Given the description of an element on the screen output the (x, y) to click on. 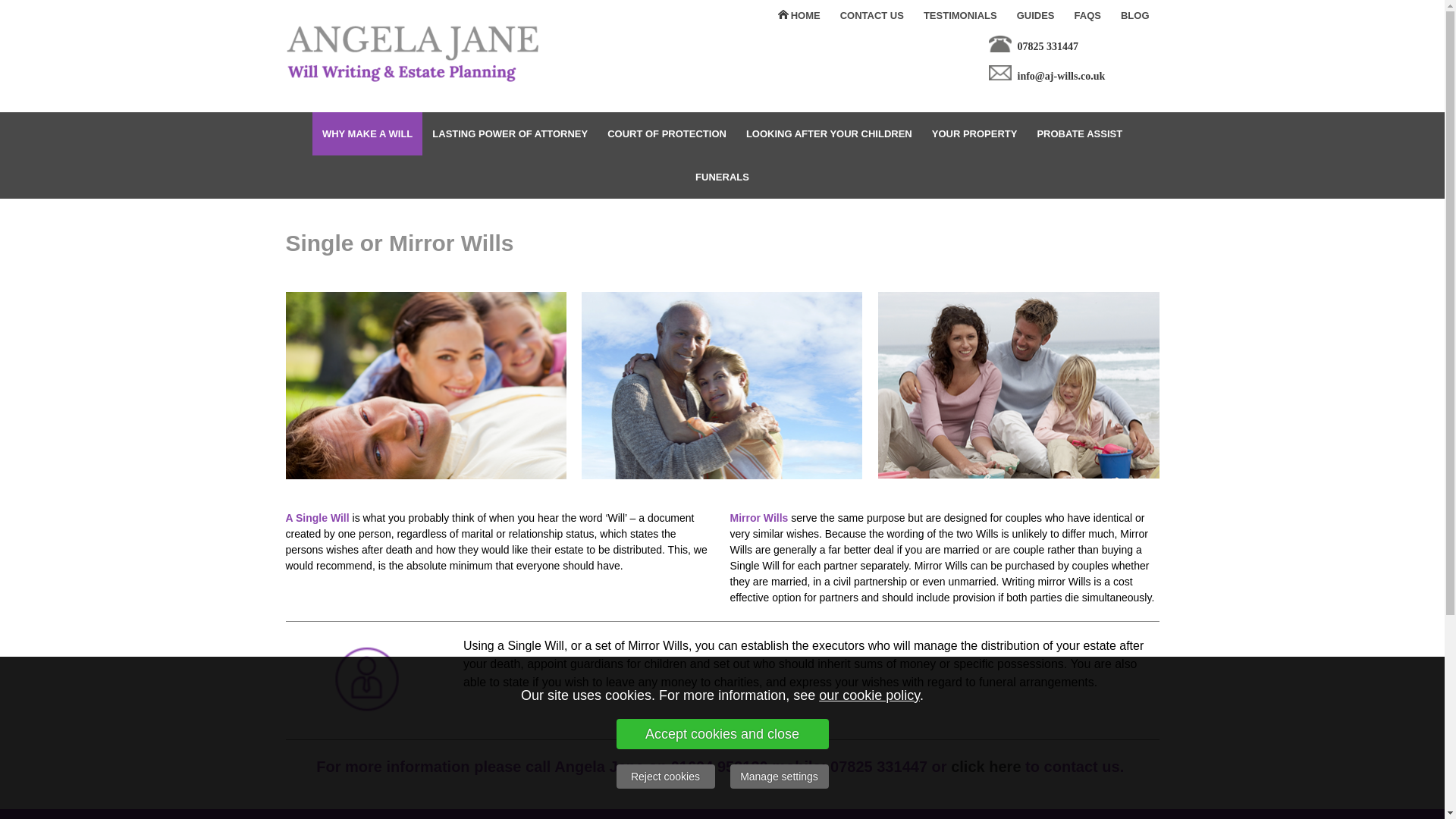
TESTIMONIALS (960, 15)
COURT OF PROTECTION (666, 133)
WHY MAKE A WILL (367, 133)
CONTACT US (871, 15)
our cookie policy (869, 694)
click here (985, 767)
07825 331447 (1047, 46)
Manage settings (778, 776)
HOME (797, 15)
YOUR PROPERTY (974, 133)
GUIDES (1035, 15)
LASTING POWER OF ATTORNEY (509, 133)
FUNERALS (721, 177)
PROBATE ASSIST (1079, 133)
LOOKING AFTER YOUR CHILDREN (828, 133)
